Given the description of an element on the screen output the (x, y) to click on. 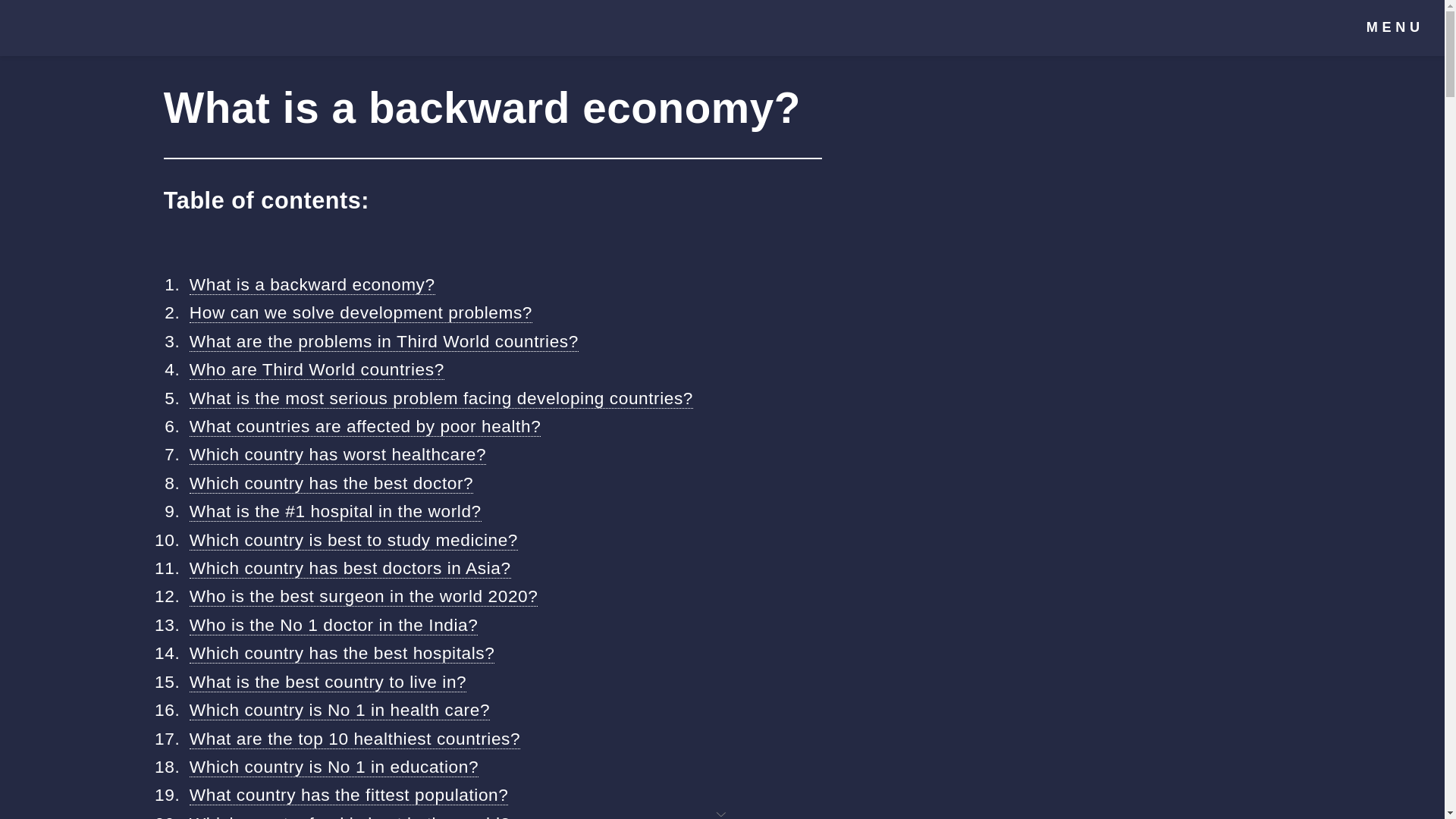
Who is the best surgeon in the world 2020? (363, 596)
What is the best country to live in? (327, 681)
What countries are affected by poor health? (365, 426)
Who are Third World countries? (316, 369)
What are the top 10 healthiest countries? (354, 738)
Which country has the best doctor? (331, 483)
What country has the fittest population? (348, 794)
Which country has worst healthcare? (337, 454)
Which country has best doctors in Asia? (350, 567)
Which country is best to study medicine? (353, 539)
Which country is No 1 in education? (334, 766)
Ad.Plus Advertising (722, 813)
Which country food is best in the world? (350, 816)
Who is the No 1 doctor in the India? (334, 625)
